Given the description of an element on the screen output the (x, y) to click on. 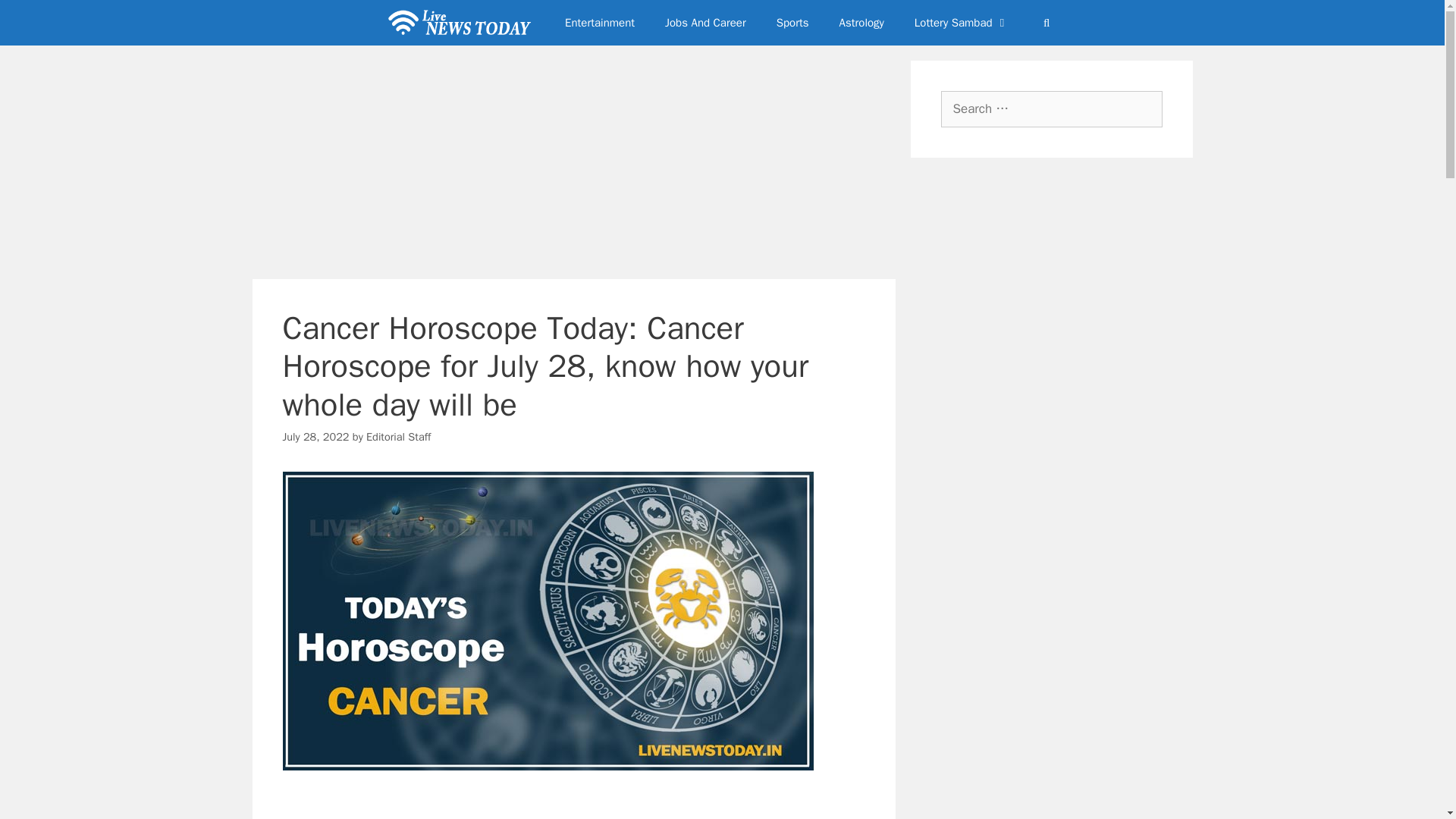
Advertisement (588, 804)
Sports (792, 22)
View all posts by Editorial Staff (398, 436)
Jobs And Career (705, 22)
Editorial Staff (398, 436)
Search for: (1050, 108)
LIVE NEWS TODAY (461, 22)
Entertainment (599, 22)
Lottery Sambad (962, 22)
